Given the description of an element on the screen output the (x, y) to click on. 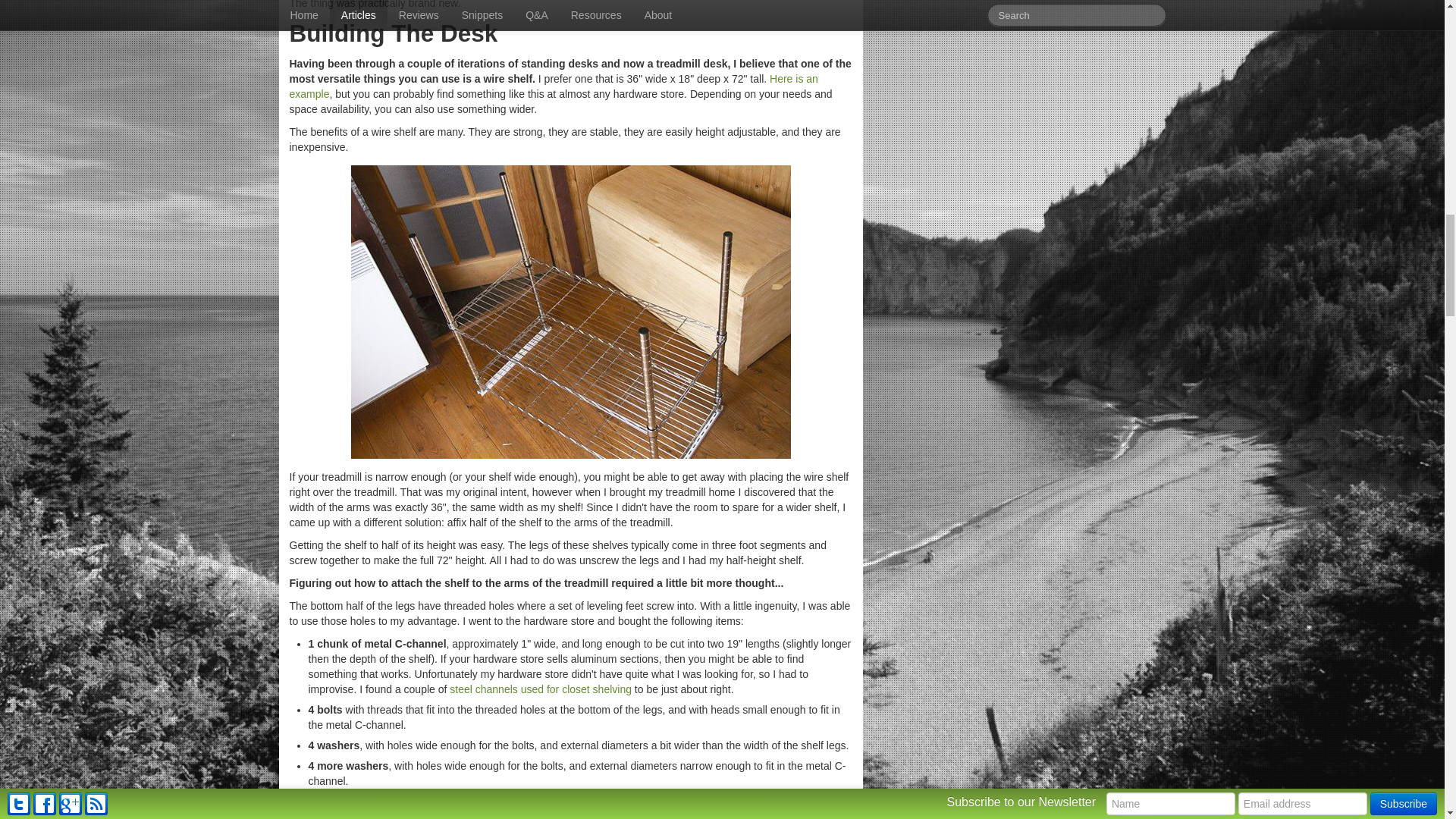
steel channels used for closet shelving (540, 689)
Here is an example (553, 85)
Treadmill Desk - Wire Shelf (570, 311)
